Given the description of an element on the screen output the (x, y) to click on. 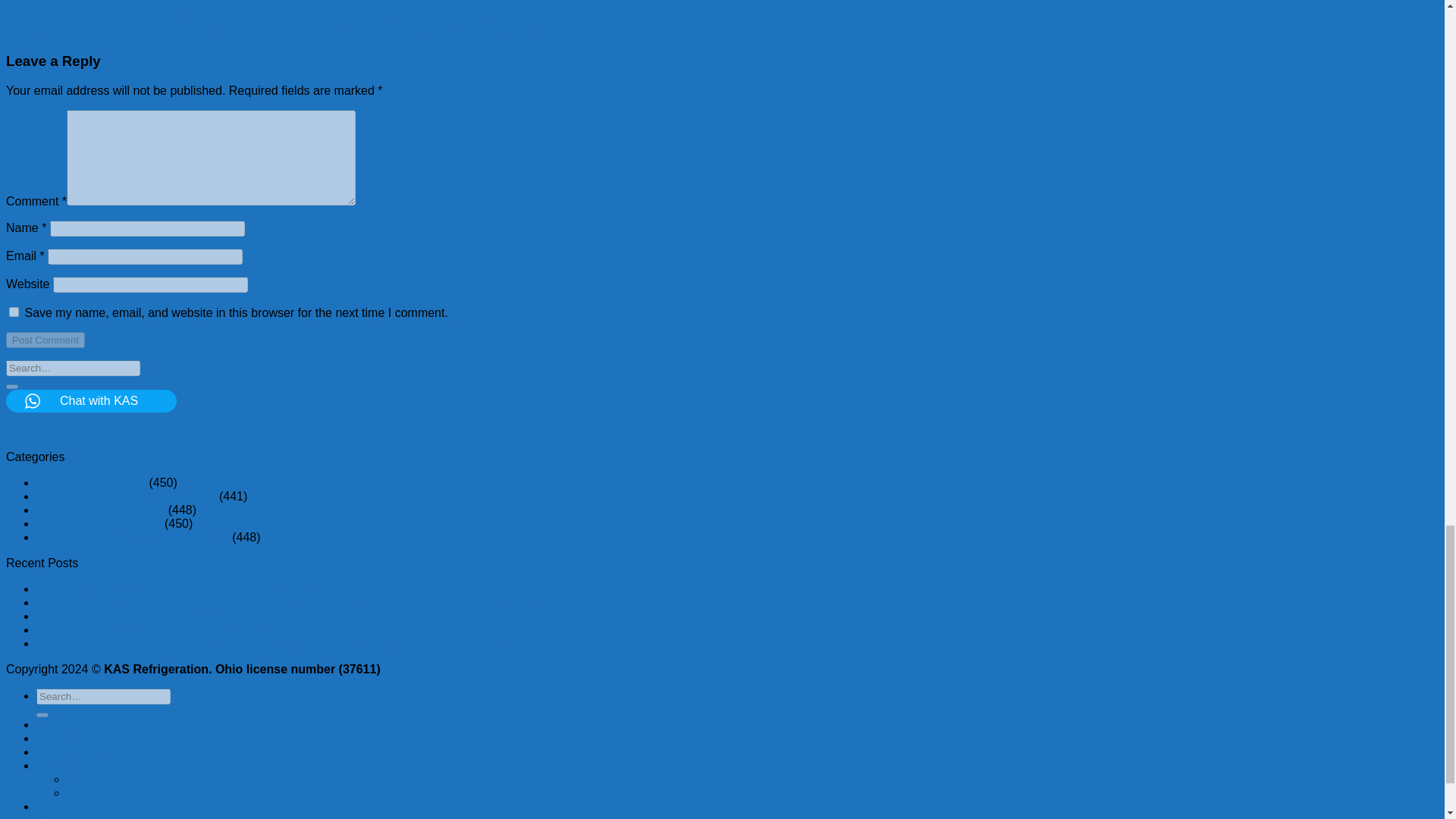
yes (13, 311)
Post Comment (44, 340)
Post Comment (44, 340)
